Given the description of an element on the screen output the (x, y) to click on. 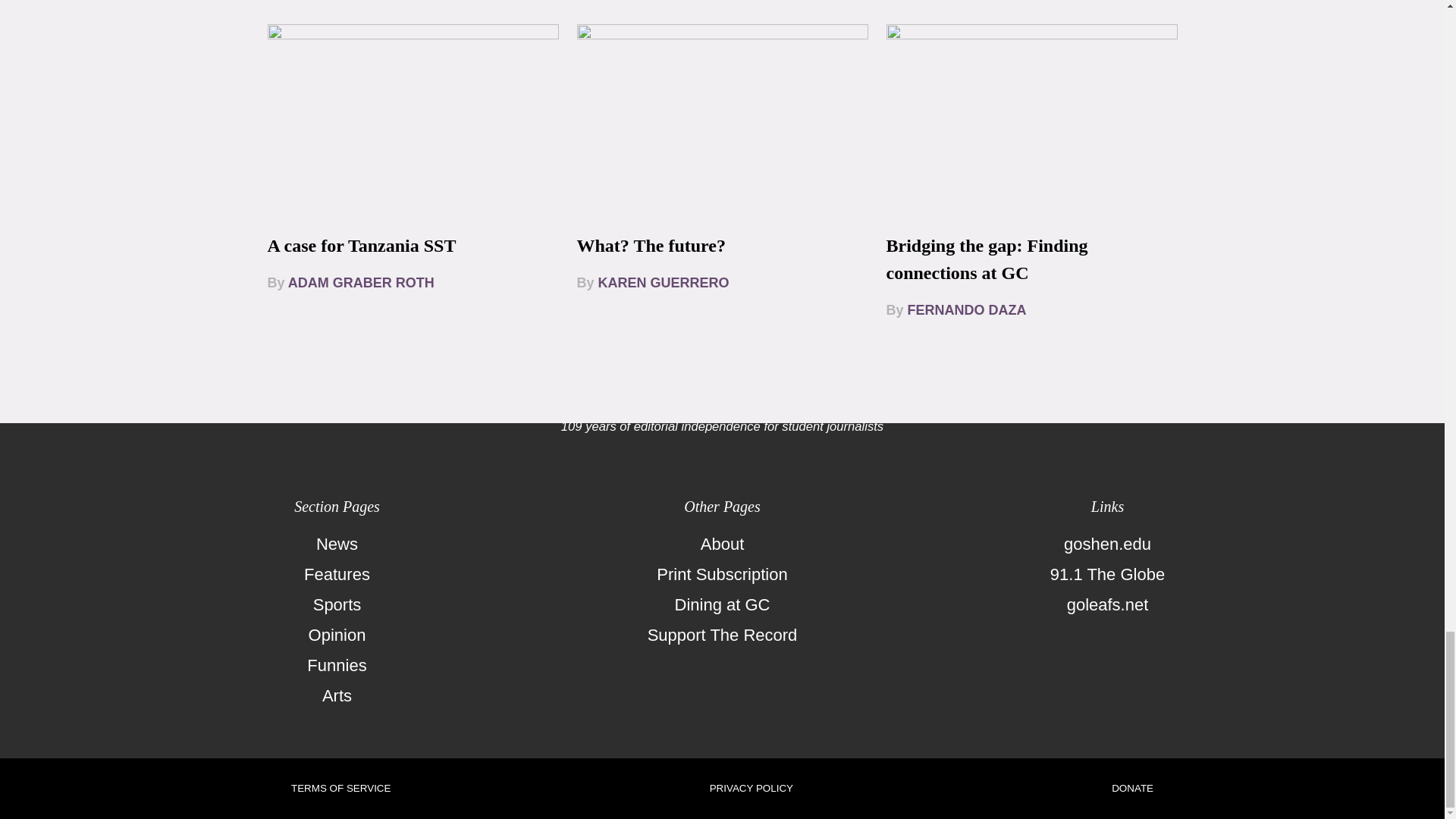
ADAM GRABER ROTH (360, 282)
KAREN GUERRERO (663, 282)
What? The future? (650, 245)
A case for Tanzania SST (360, 245)
